Given the description of an element on the screen output the (x, y) to click on. 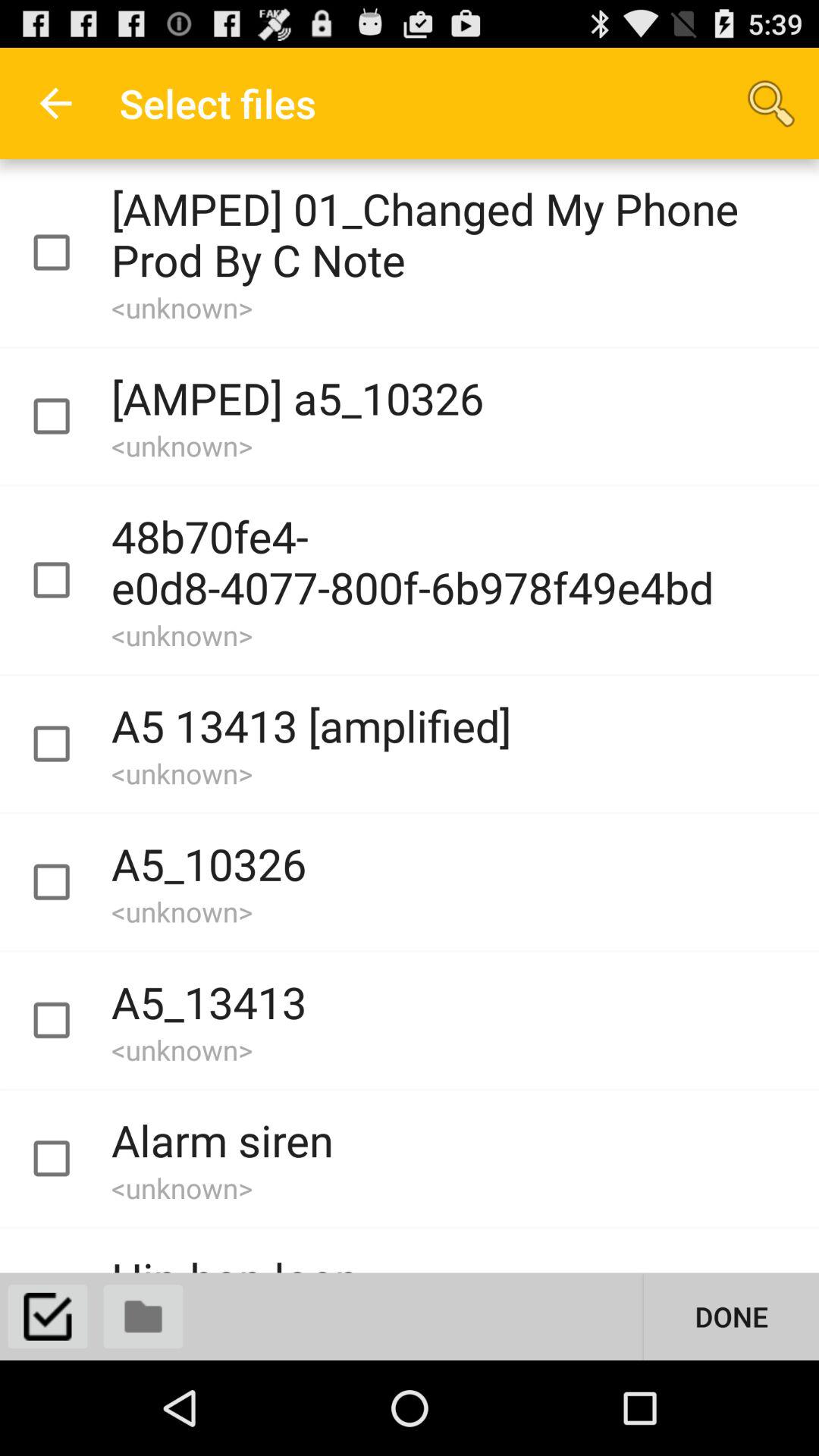
tap icon to the right of select files app (771, 103)
